Given the description of an element on the screen output the (x, y) to click on. 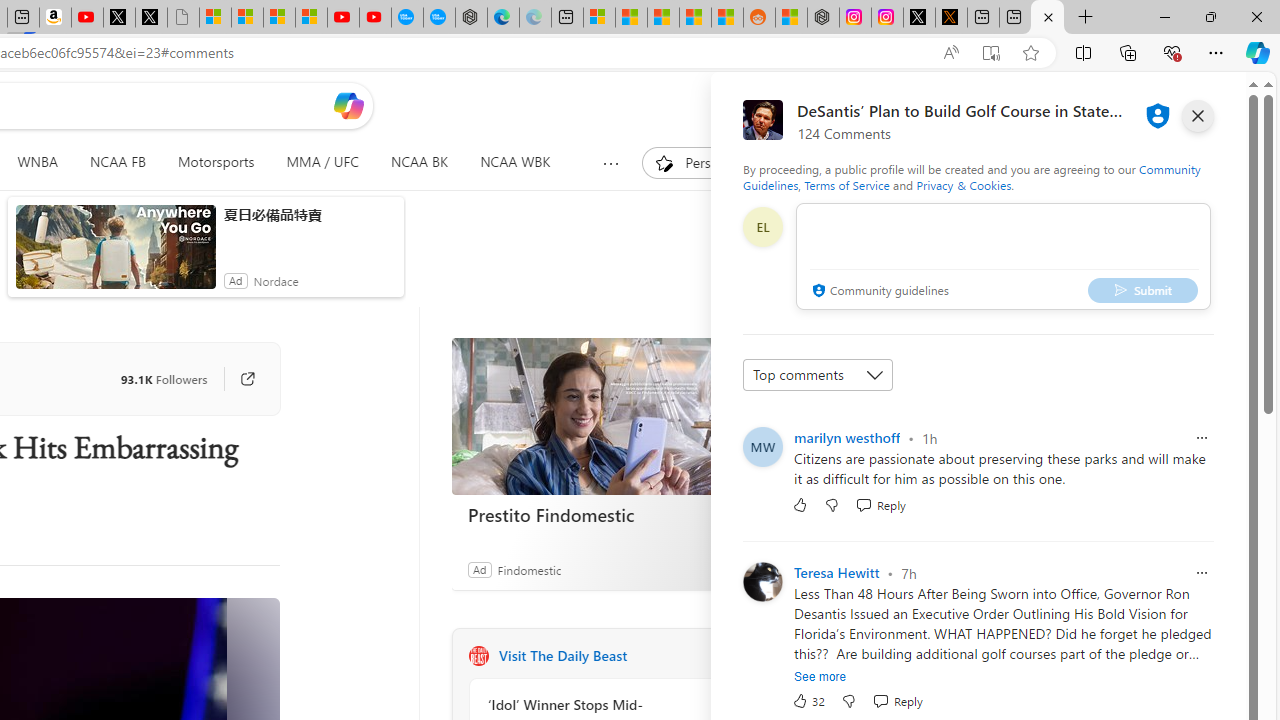
Show more topics (611, 163)
32 Like (808, 700)
Nordace - Nordace has arrived Hong Kong (471, 17)
Open Copilot (347, 105)
Findomestic (528, 569)
The most popular Google 'how to' searches (438, 17)
Shanghai, China hourly forecast | Microsoft Weather (663, 17)
anim-content (115, 255)
Profile Picture (762, 581)
